Given the description of an element on the screen output the (x, y) to click on. 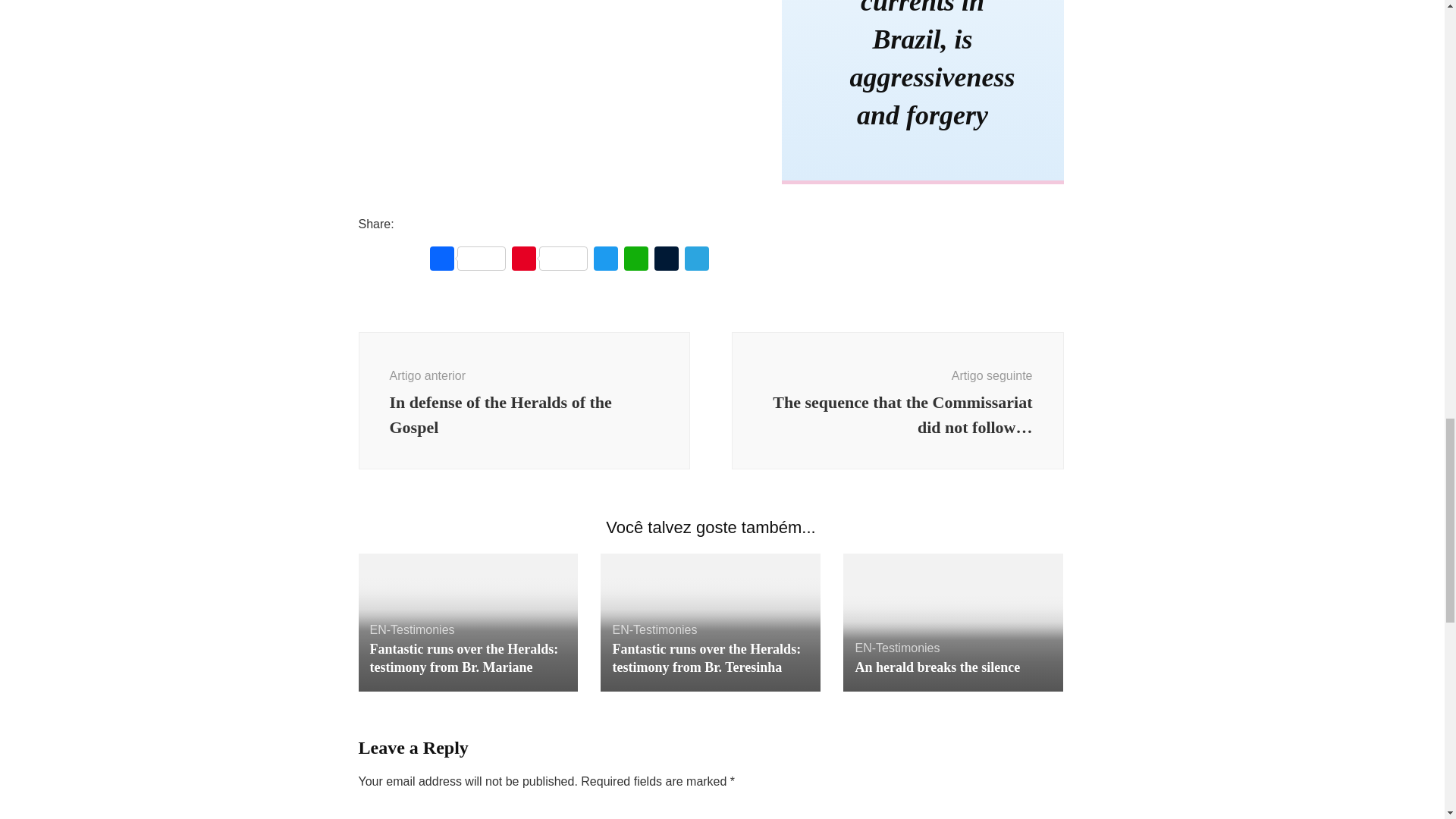
Twitter (604, 260)
Pinterest (548, 260)
Telegram (696, 260)
Facebook (467, 260)
WhatsApp (635, 260)
Tumblr (665, 260)
Telegram (696, 260)
WhatsApp (635, 260)
Twitter (604, 260)
Tumblr (665, 260)
